Given the description of an element on the screen output the (x, y) to click on. 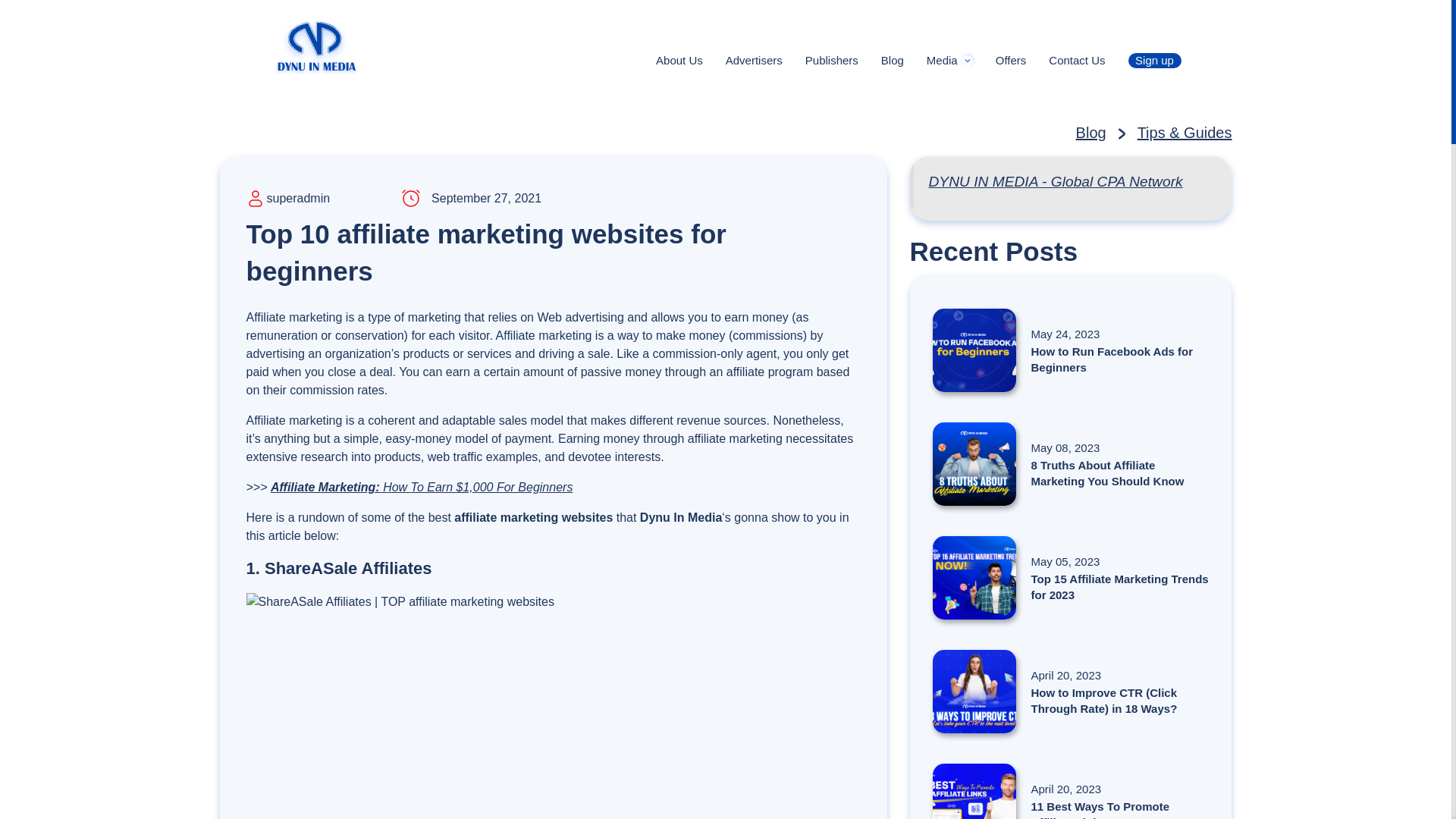
Sign up (1154, 60)
Publishers (832, 60)
Blog (1090, 132)
11 Best Ways To Promote Affiliate Links In 2023 (1071, 791)
8 Truths About Affiliate Marketing You Should Know (1071, 464)
Dynu In Media (316, 44)
How to Run Facebook Ads for Beginners (1071, 350)
Contact Us (1076, 60)
About Us (679, 60)
Dynu In Media (316, 46)
